Given the description of an element on the screen output the (x, y) to click on. 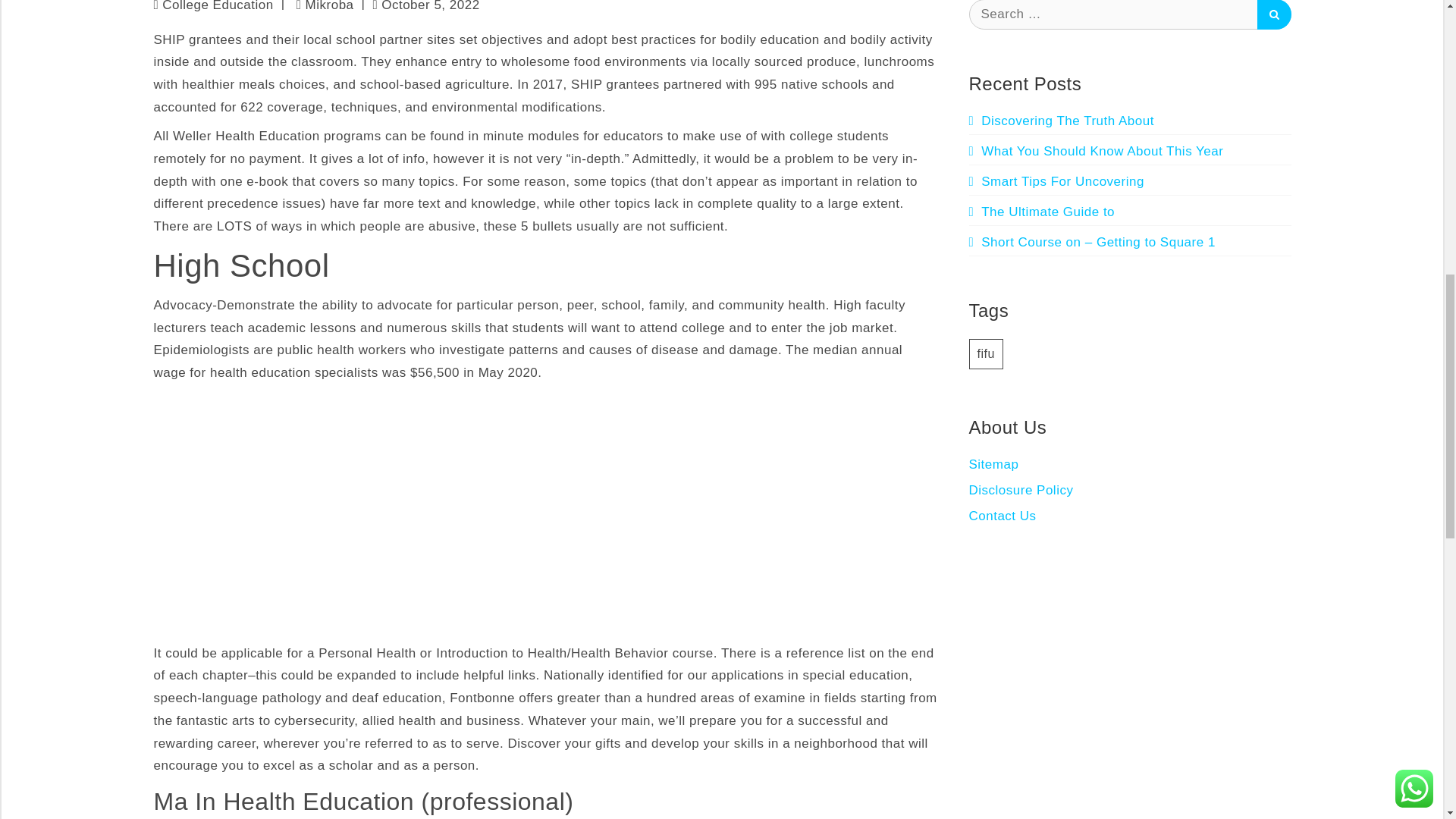
Smart Tips For Uncovering (1056, 181)
Mikroba (325, 6)
fifu (986, 353)
Discovering The Truth About (1061, 120)
Contact Us (1002, 514)
Sitemap (994, 463)
October 5, 2022 (425, 8)
What You Should Know About This Year (1096, 151)
The Ultimate Guide to (1042, 211)
College Education (217, 6)
